Given the description of an element on the screen output the (x, y) to click on. 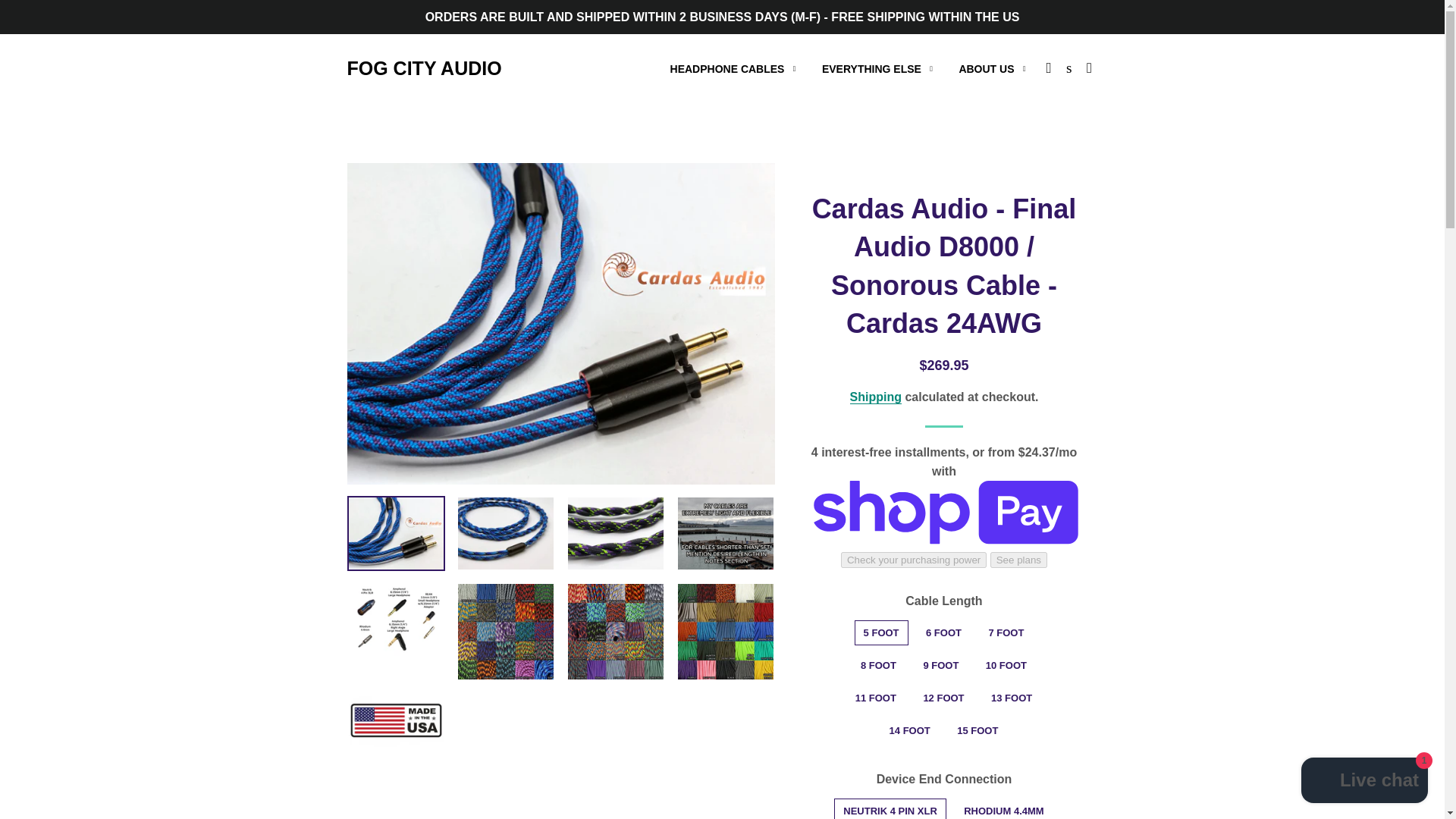
Shopify online store chat (1364, 781)
